Given the description of an element on the screen output the (x, y) to click on. 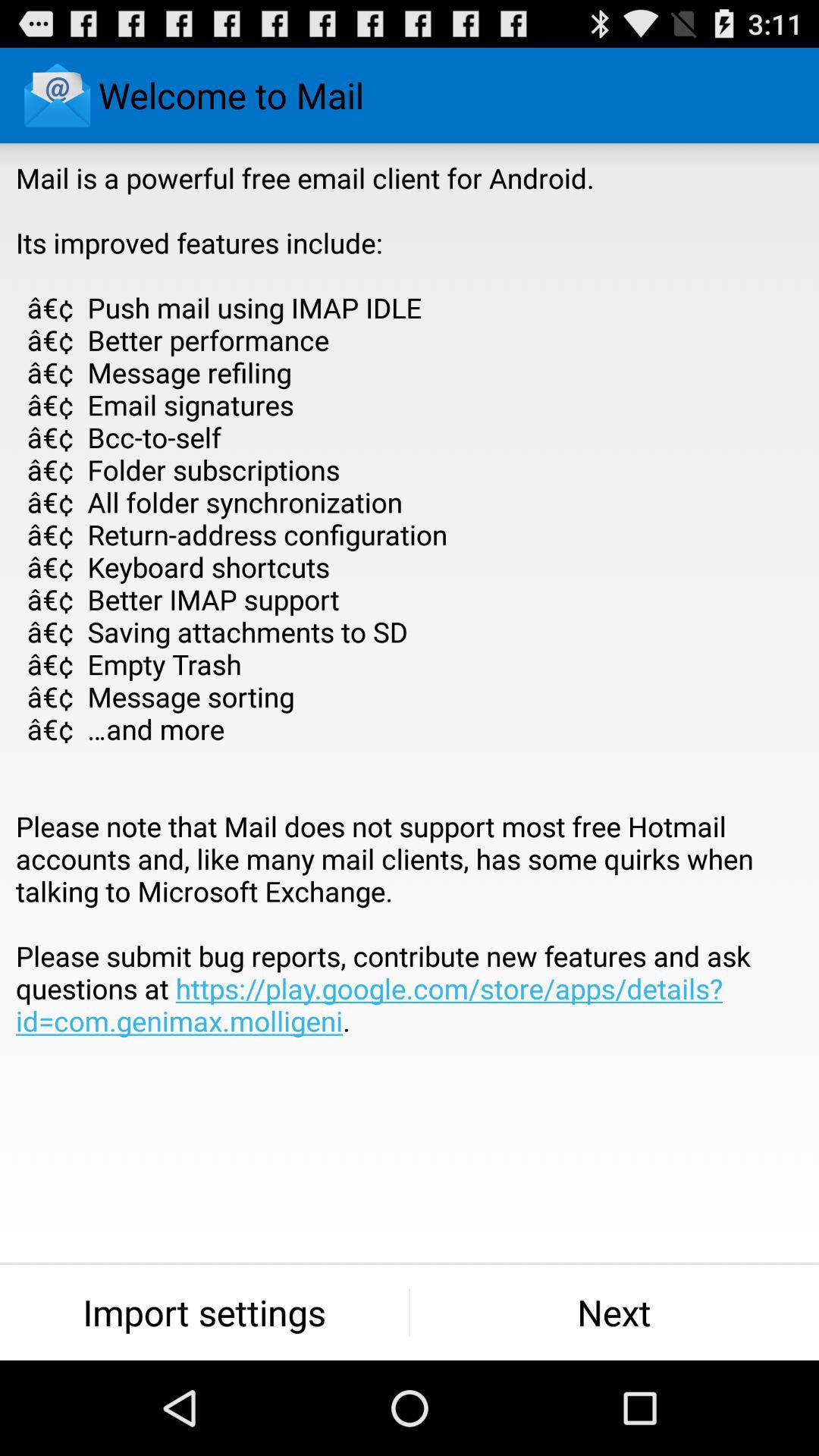
launch icon at the bottom left corner (204, 1312)
